Given the description of an element on the screen output the (x, y) to click on. 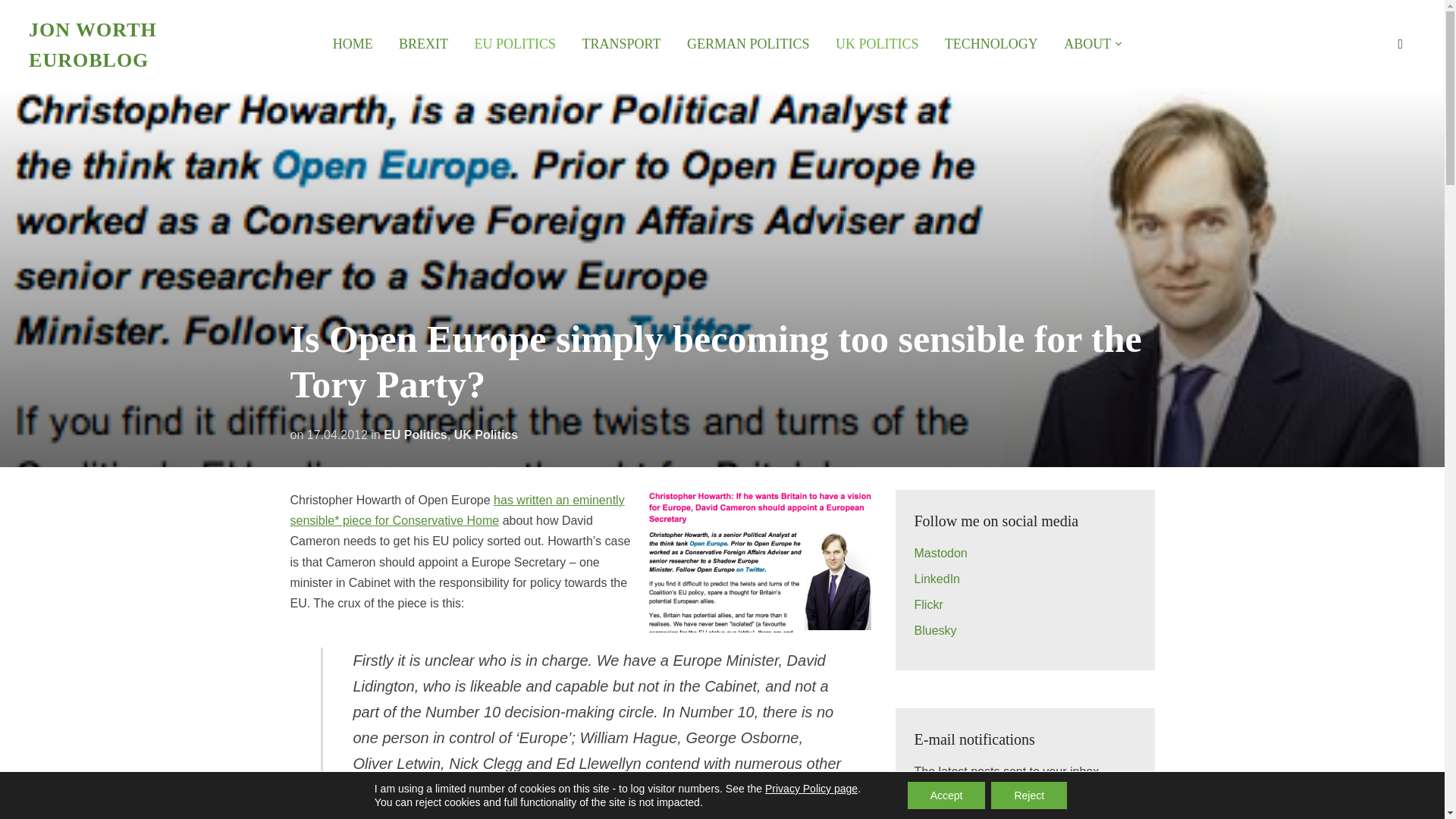
ABOUT (1093, 43)
GERMAN POLITICS (748, 43)
Screen Shot 2012-04-17 at 11.06.45 (759, 560)
withspacer (1093, 43)
BREXIT (423, 43)
JON WORTH EUROBLOG (93, 44)
TECHNOLOGY (991, 43)
Submit (1106, 809)
UK POLITICS (876, 43)
HOME (352, 43)
